Given the description of an element on the screen output the (x, y) to click on. 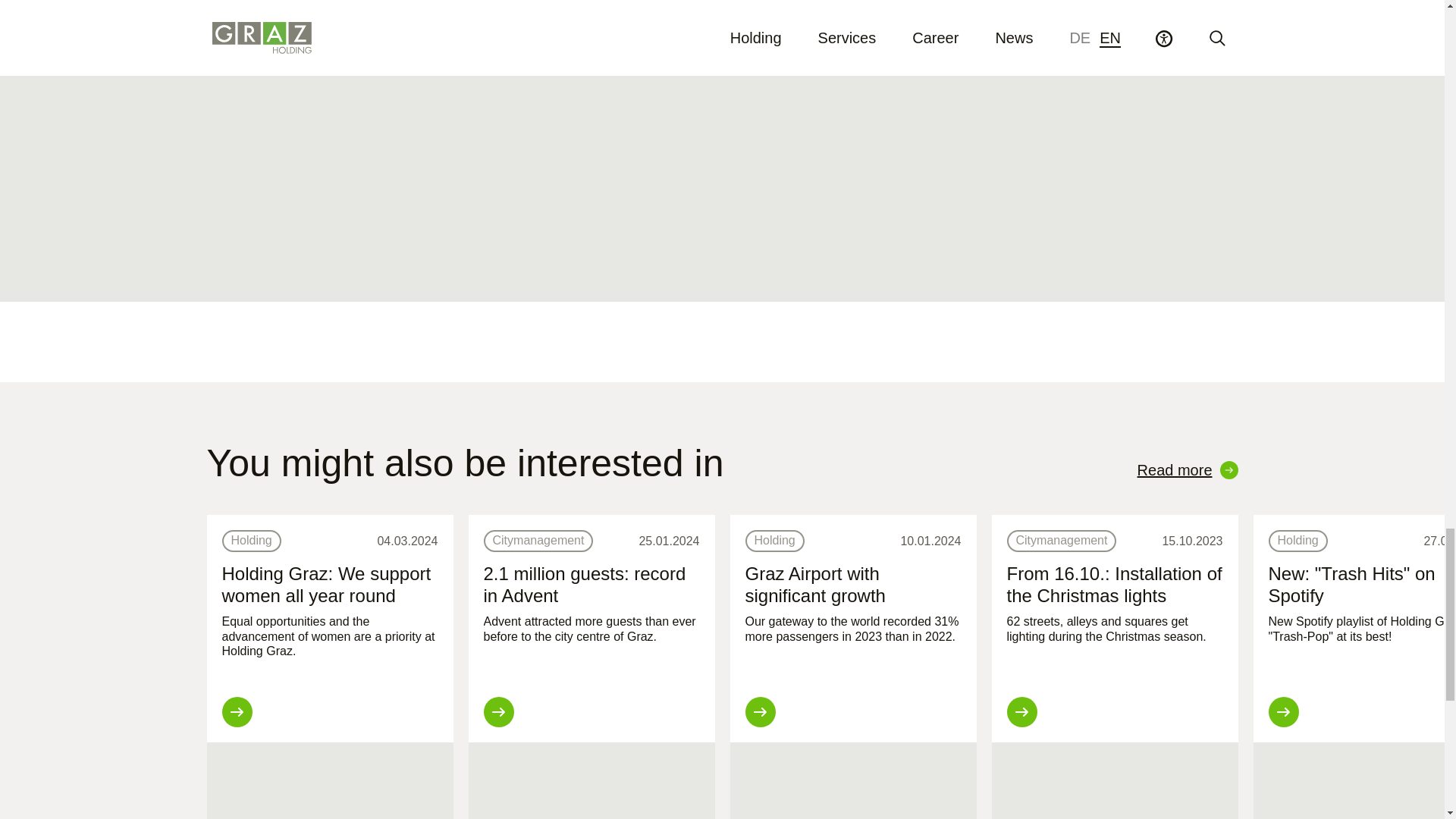
Read more (1188, 469)
Holding (251, 540)
2.1 million guests: record in Advent (584, 584)
Holding Graz: We support women all year round (325, 584)
Citymanagement (538, 540)
From 16.10.: Installation of the Christmas lights (1115, 584)
Holding (773, 540)
Citymanagement (1061, 540)
New: "Trash Hits" on Spotify (1351, 584)
Graz Airport with significant growth (814, 584)
